Given the description of an element on the screen output the (x, y) to click on. 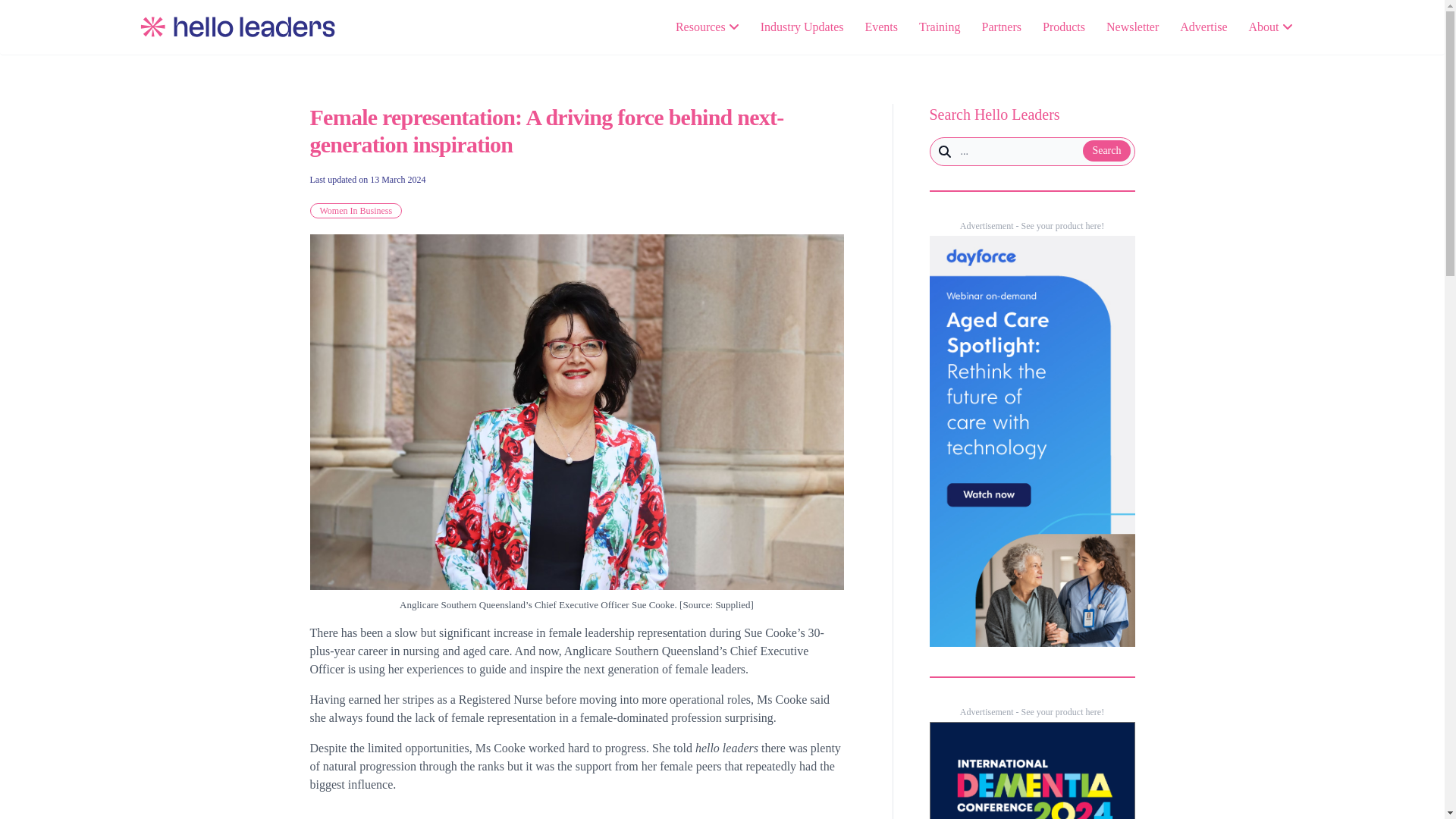
Training (939, 27)
Partners (1001, 27)
Advertisement - See your product here! (1031, 711)
Products (1063, 27)
Women In Business (354, 210)
Search (1106, 150)
Advertise (1203, 27)
Newsletter (1132, 27)
Industry Updates (802, 27)
Advertisement - See your product here! (1031, 225)
Events (881, 27)
Resources (707, 27)
